Given the description of an element on the screen output the (x, y) to click on. 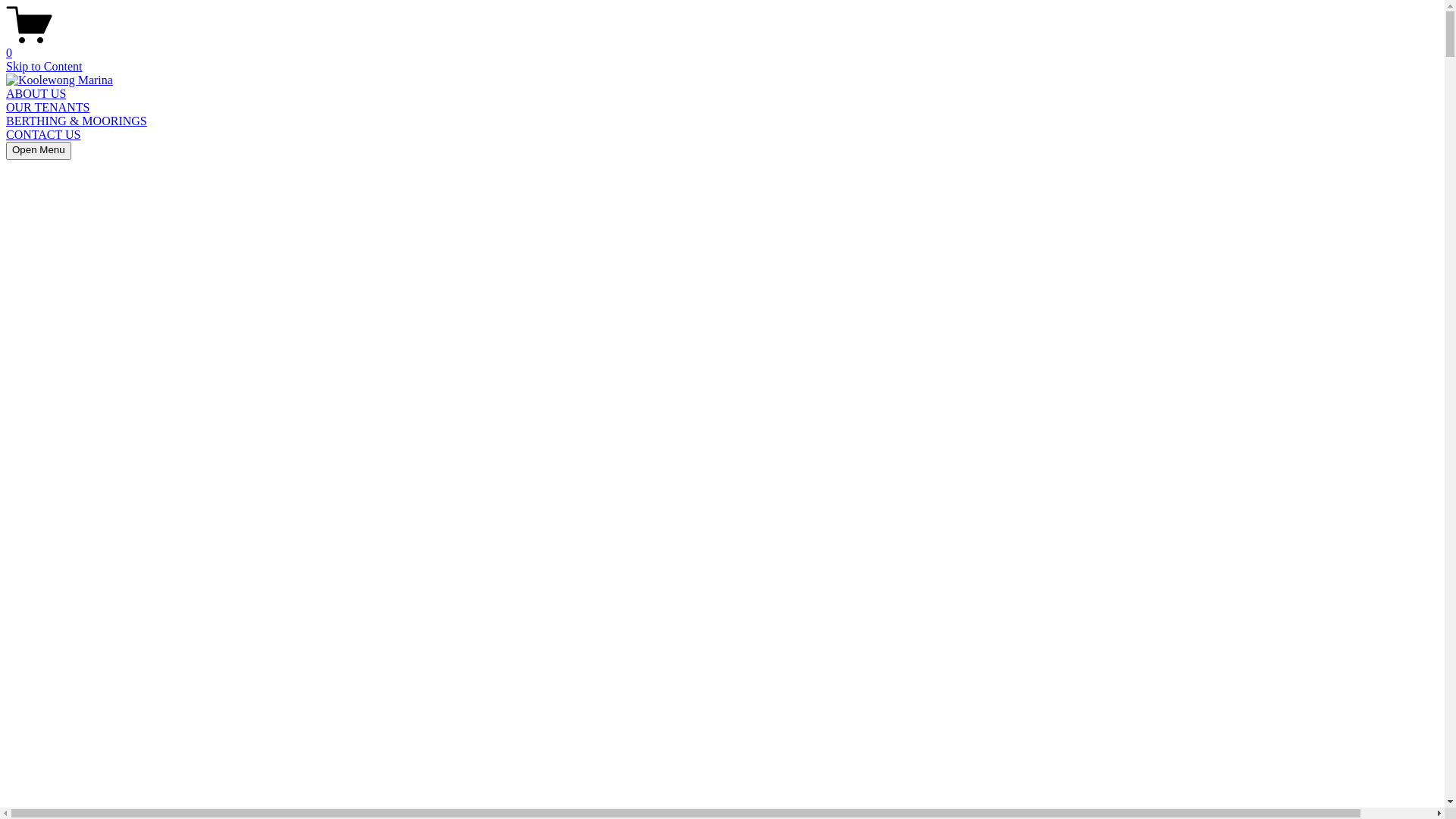
Skip to Content Element type: text (43, 65)
BERTHING & MOORINGS Element type: text (76, 120)
ABOUT US Element type: text (35, 93)
CONTACT US Element type: text (43, 134)
0 Element type: text (722, 45)
OUR TENANTS Element type: text (47, 106)
Open Menu Element type: text (38, 150)
